Given the description of an element on the screen output the (x, y) to click on. 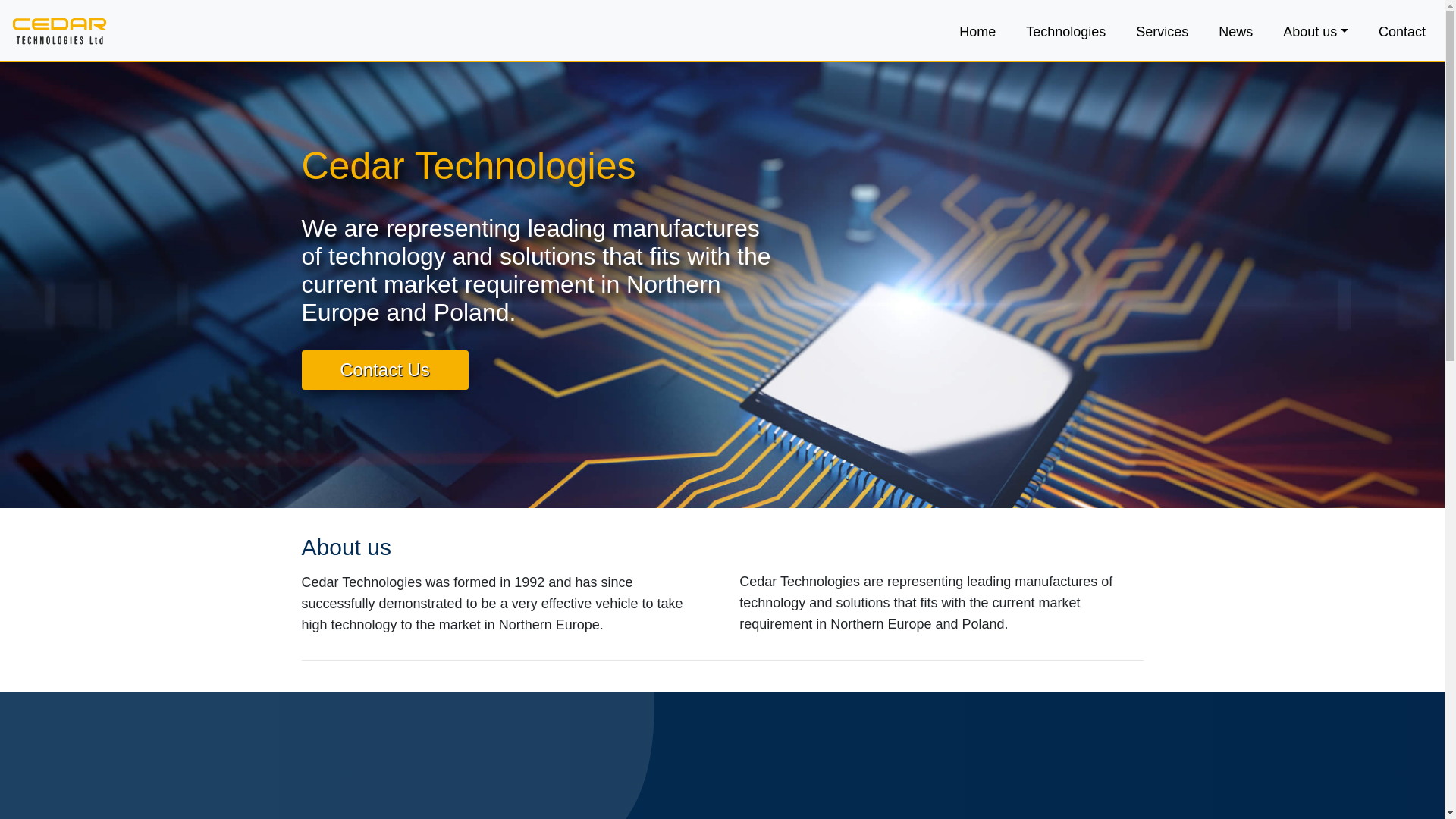
Services (1161, 31)
Home (977, 31)
Technologies (1066, 31)
Contact (1402, 31)
News (1235, 31)
About us (1315, 31)
Contact Us (384, 367)
